Given the description of an element on the screen output the (x, y) to click on. 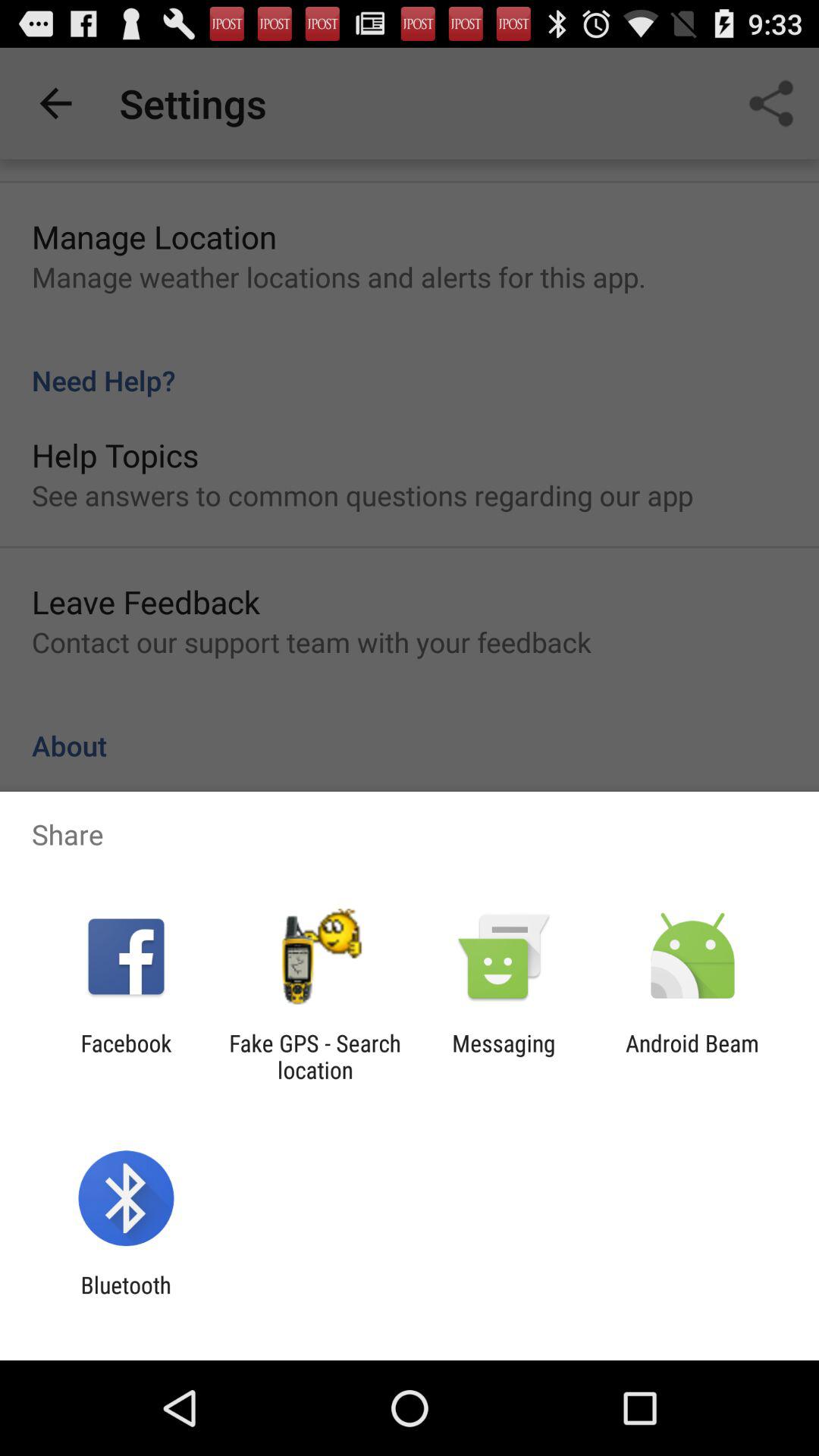
choose icon next to the fake gps search (125, 1056)
